Given the description of an element on the screen output the (x, y) to click on. 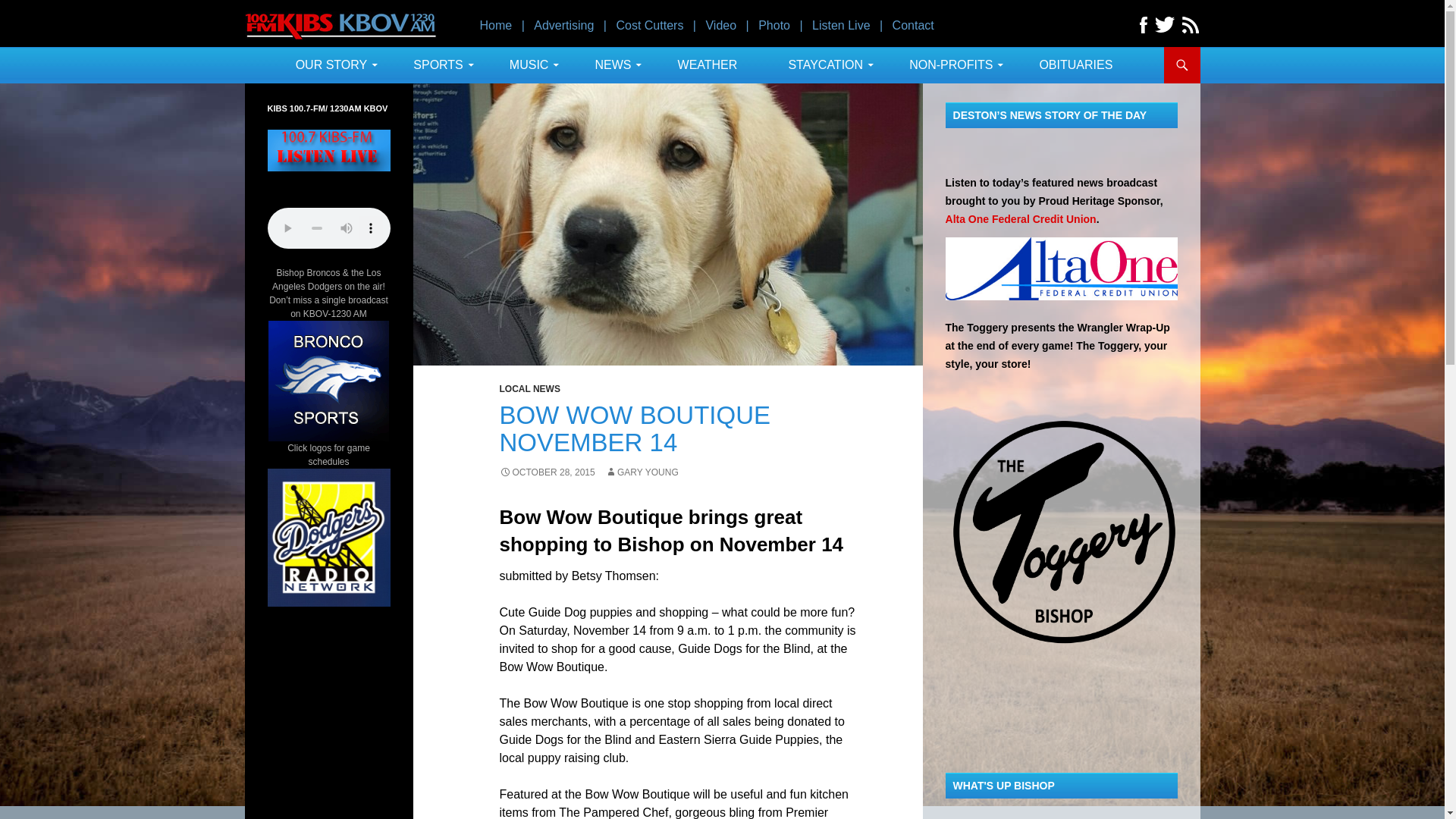
Community News (610, 64)
Advertising (564, 24)
Home (495, 24)
OUR STORY (328, 64)
SKIP TO CONTENT (727, 45)
WEATHER (707, 64)
NEWS (610, 64)
Video (720, 24)
Photo (774, 24)
MUSIC (526, 64)
Cost Cutters (648, 24)
Contact (913, 24)
NON-PROFITS (948, 64)
STAYCATION (822, 64)
